Given the description of an element on the screen output the (x, y) to click on. 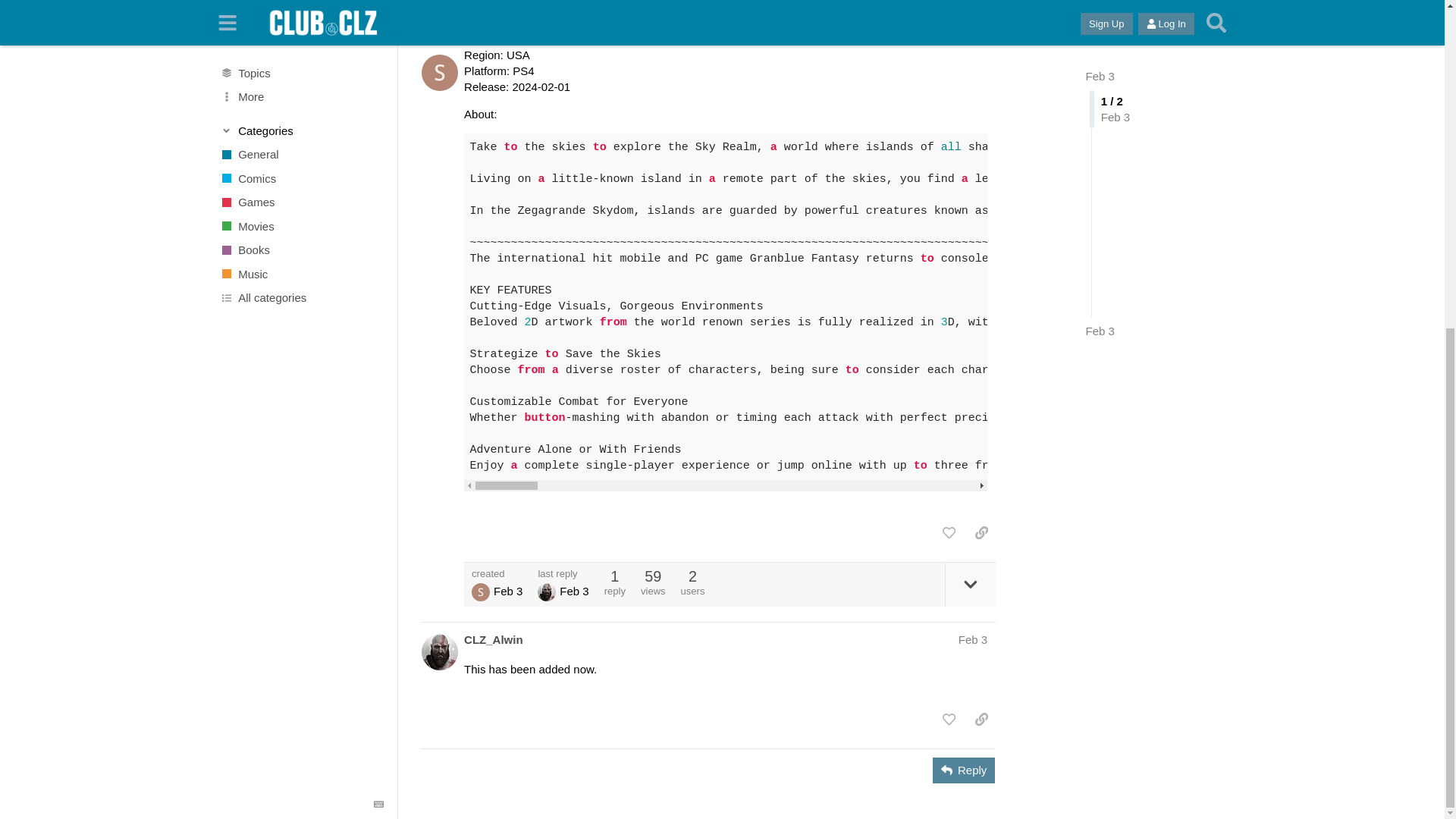
like this post (948, 533)
expand topic details (969, 584)
Skiller (480, 592)
Keyboard Shortcuts (378, 262)
copy a link to this post to clipboard (981, 533)
last reply (562, 573)
